Given the description of an element on the screen output the (x, y) to click on. 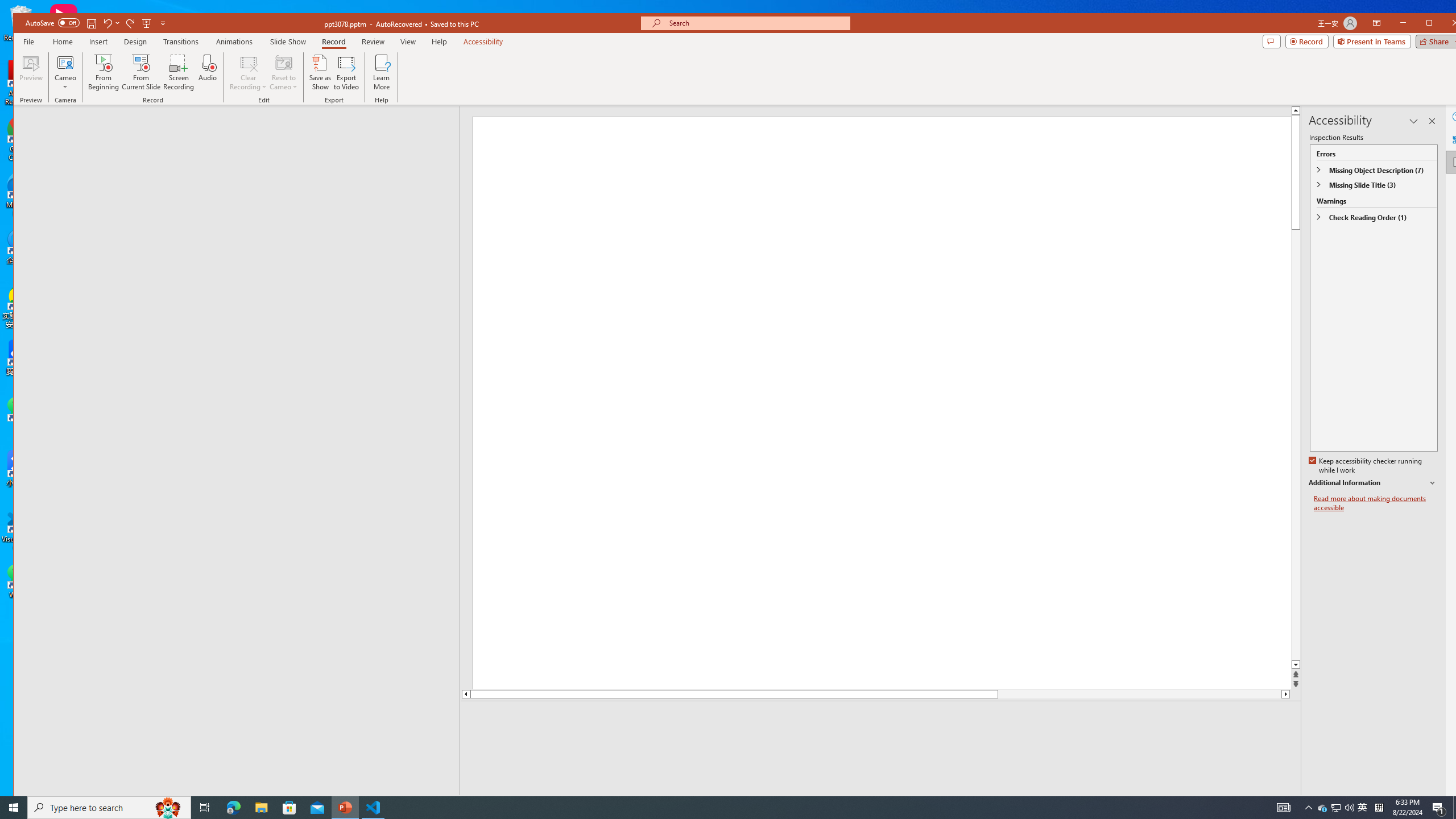
Read more about making documents accessible (1375, 502)
Menu On (1235, 802)
Clear Recording (247, 72)
Slide Notes (881, 717)
Keep accessibility checker running while I work (1365, 465)
